Given the description of an element on the screen output the (x, y) to click on. 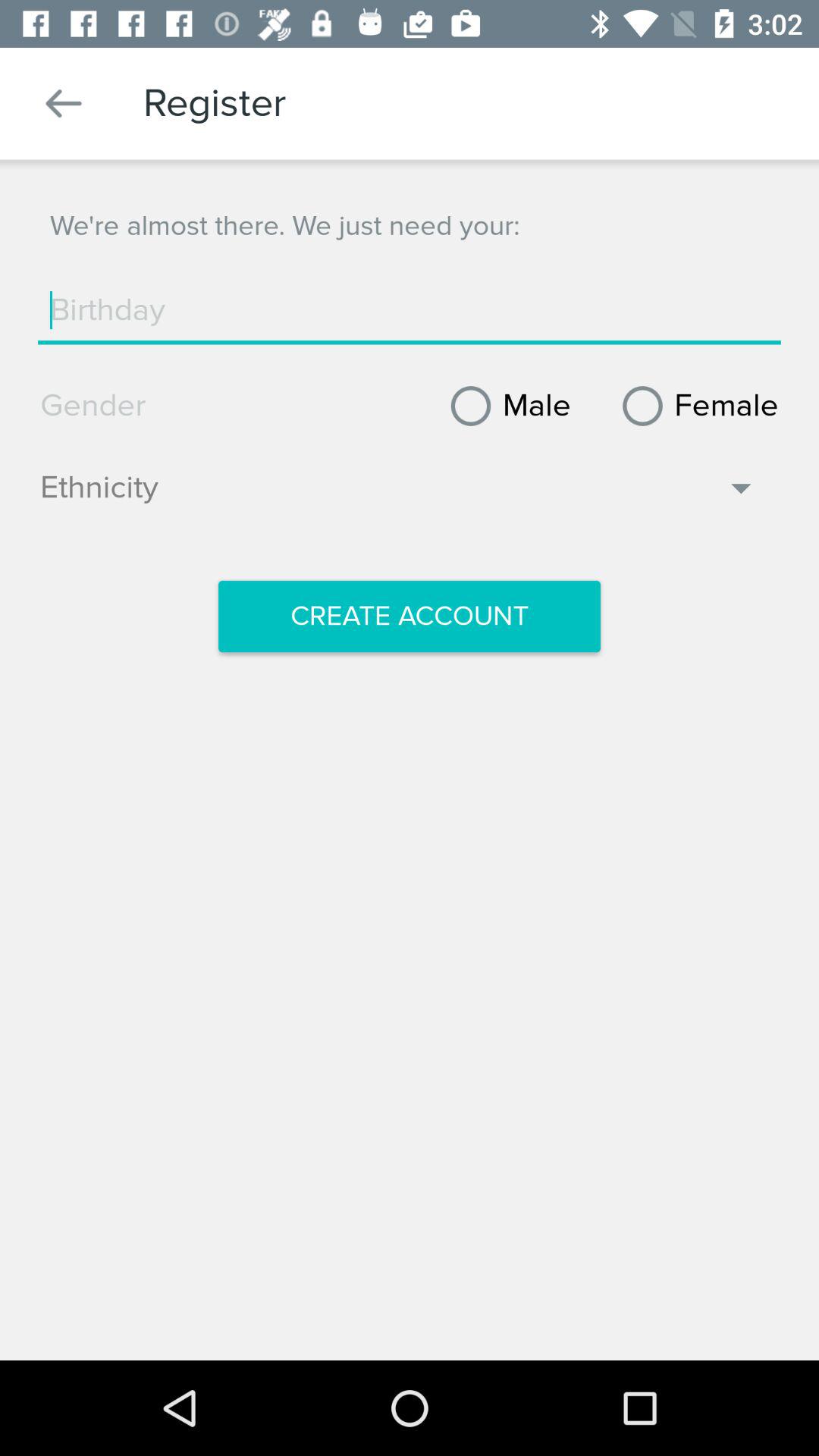
open icon at the top right corner (694, 405)
